Given the description of an element on the screen output the (x, y) to click on. 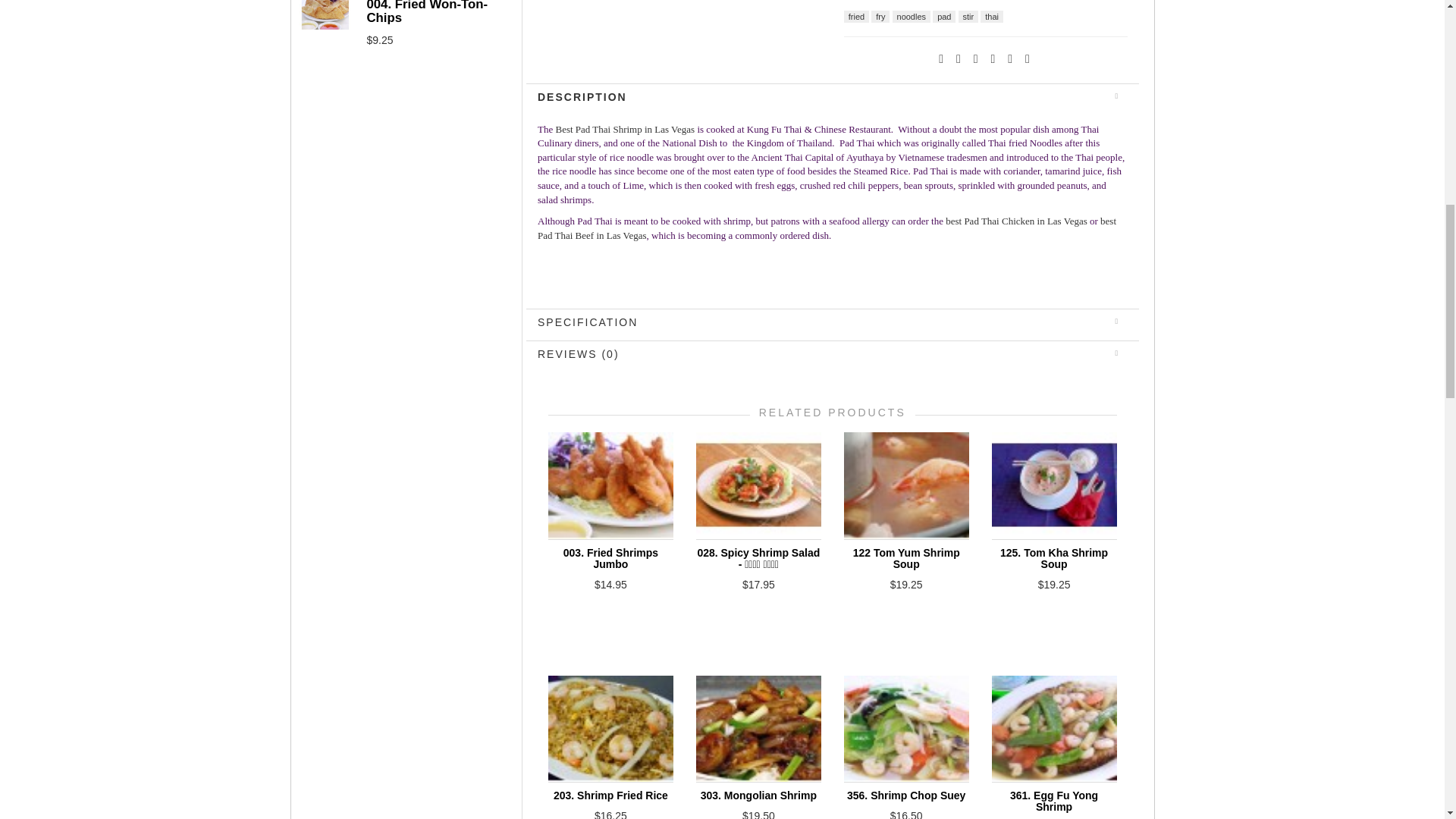
004.  Fried Won-Ton-Chips (325, 14)
